Given the description of an element on the screen output the (x, y) to click on. 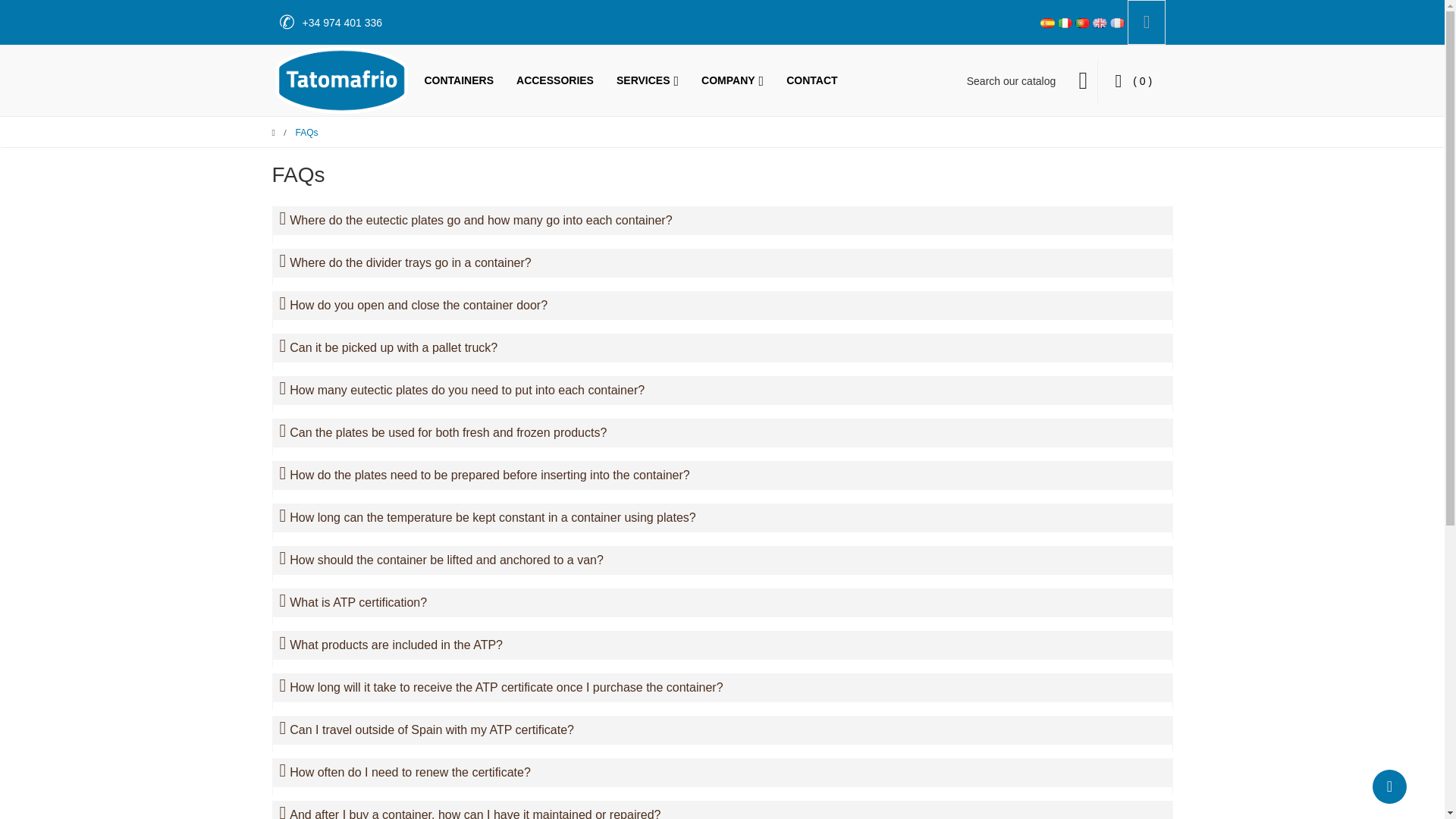
Where do the divider trays go in a container? (721, 262)
Can it be picked up with a pallet truck? (721, 347)
CONTAINERS (460, 80)
FAQs (306, 132)
SERVICES (646, 80)
ACCESSORIES (555, 80)
COMPANY (731, 80)
CONTACT (811, 80)
